Given the description of an element on the screen output the (x, y) to click on. 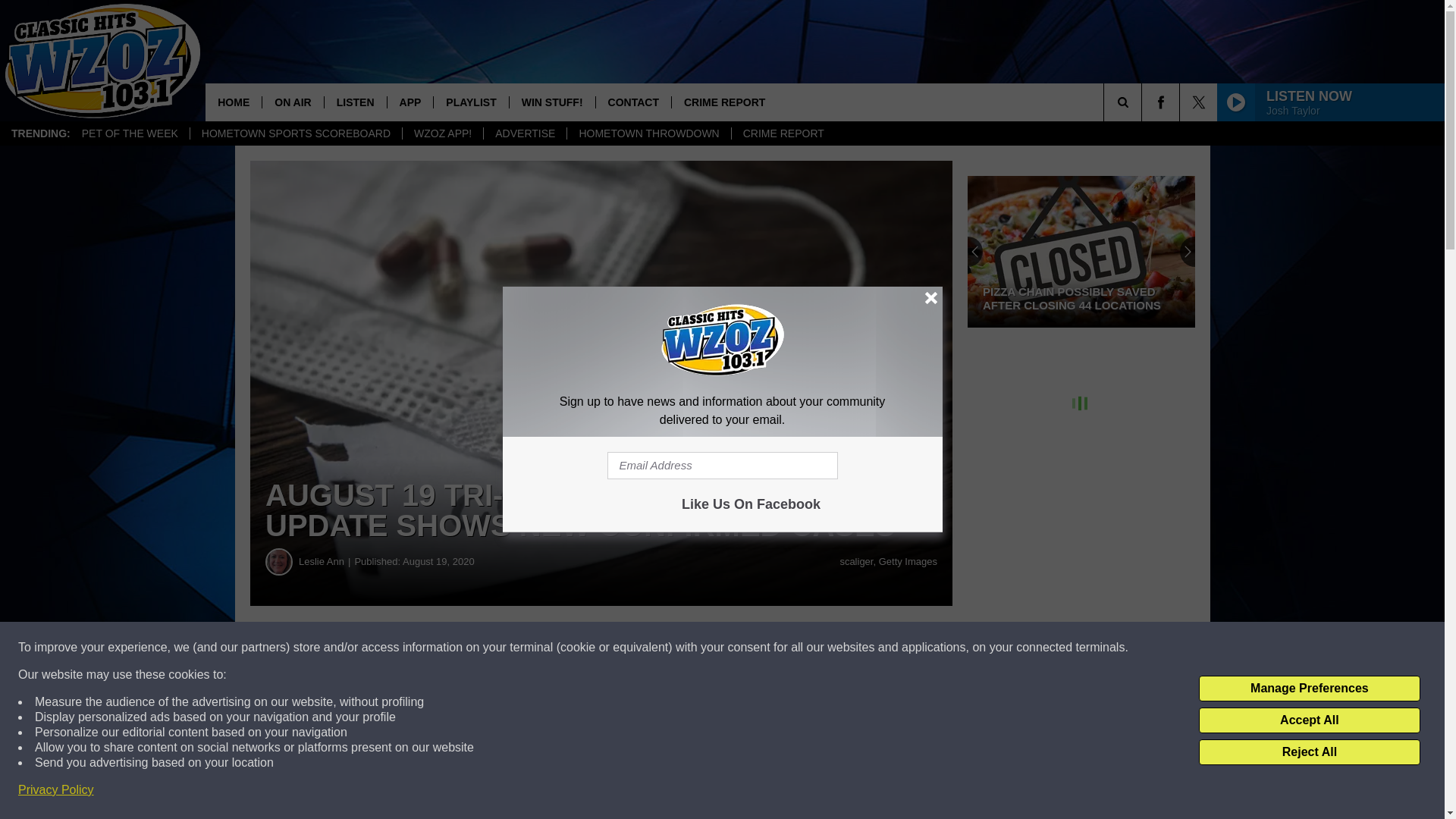
Share on Twitter (741, 647)
LISTEN (355, 102)
SEARCH (1144, 102)
Manage Preferences (1309, 688)
PET OF THE WEEK (129, 133)
WZOZ APP! (442, 133)
Reject All (1309, 751)
Privacy Policy (55, 789)
HOME (233, 102)
APP (410, 102)
ADVERTISE (524, 133)
HOMETOWN SPORTS SCOREBOARD (295, 133)
HOMETOWN THROWDOWN (648, 133)
CRIME REPORT (724, 102)
ON AIR (292, 102)
